Given the description of an element on the screen output the (x, y) to click on. 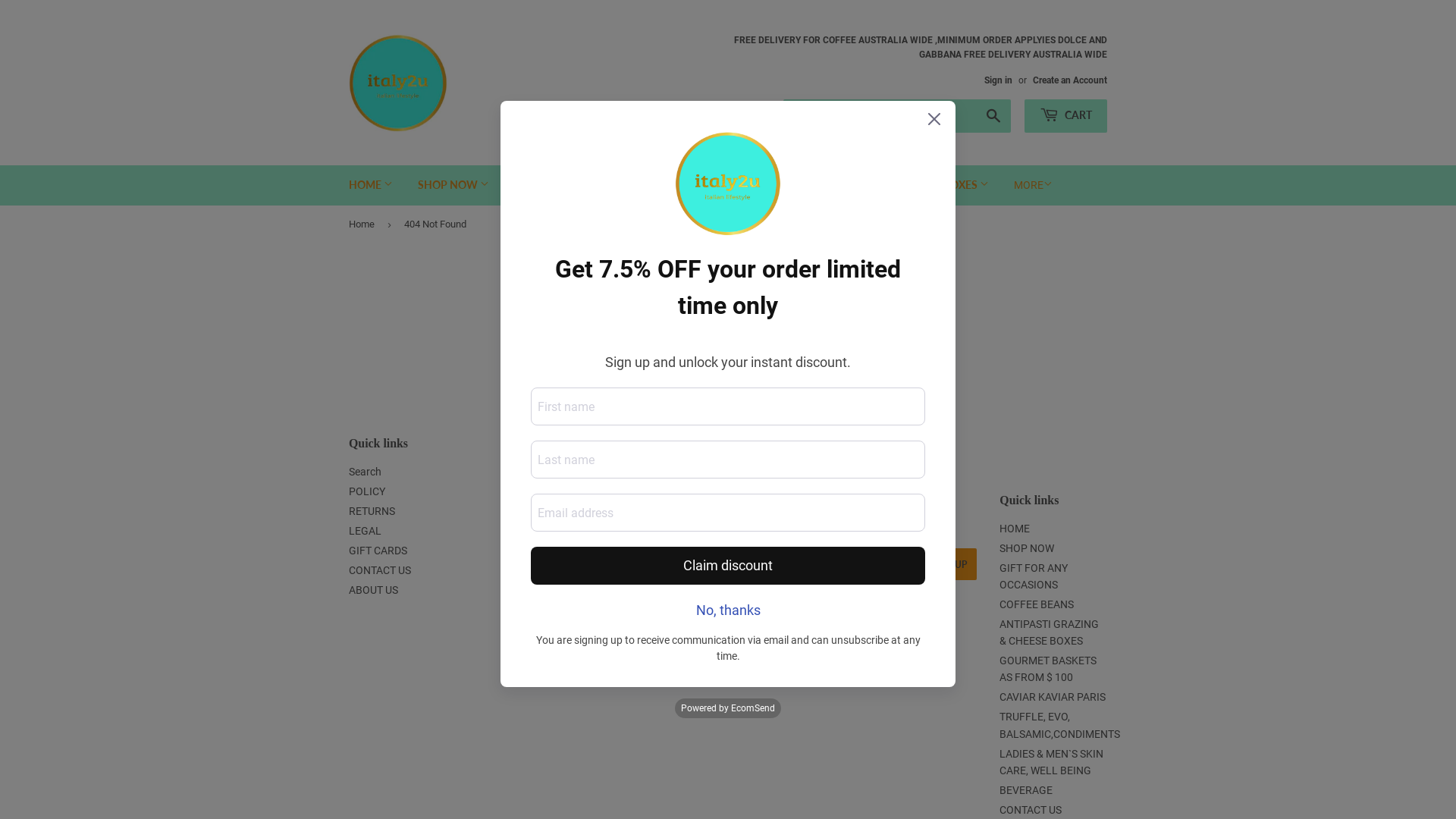
Create an Account Element type: text (1069, 80)
RETURNS Element type: text (371, 511)
SHOP NOW Element type: text (453, 184)
SIGN UP Element type: text (948, 564)
COFFEE BEANS Element type: text (1036, 604)
CAVIAR KAVIAR PARIS Element type: text (1052, 696)
Home Element type: text (363, 224)
Search Element type: text (993, 116)
LADIES & MEN`S SKIN CARE, WELL BEING Element type: text (1051, 761)
GOURMET BASKETS AS FROM $ 100 Element type: text (1047, 668)
GIFT CARDS Element type: text (377, 550)
here Element type: text (779, 324)
GIFT FOR ANY OCCASIONS Element type: text (580, 184)
HOME Element type: text (370, 184)
CONTACT US Element type: text (1030, 809)
TRUFFLE, EVO, BALSAMIC,CONDIMENTS Element type: text (1059, 724)
CONTACT US Element type: text (379, 570)
GIFT FOR ANY OCCASIONS Element type: text (1033, 575)
CART Element type: text (1065, 115)
HOME Element type: text (1014, 528)
Search Element type: text (364, 471)
BEVERAGE Element type: text (1025, 790)
ANTIPASTI GRAZING & CHEESE BOXES Element type: text (1048, 632)
SHOP NOW Element type: text (1026, 548)
ANTIPASTI GRAZING & CHEESE BOXES Element type: text (887, 184)
ABOUT US Element type: text (373, 589)
Sign in Element type: text (998, 80)
POLICY Element type: text (366, 491)
LEGAL Element type: text (364, 530)
COFFEE BEANS Element type: text (717, 184)
MORE Element type: text (1032, 184)
